Given the description of an element on the screen output the (x, y) to click on. 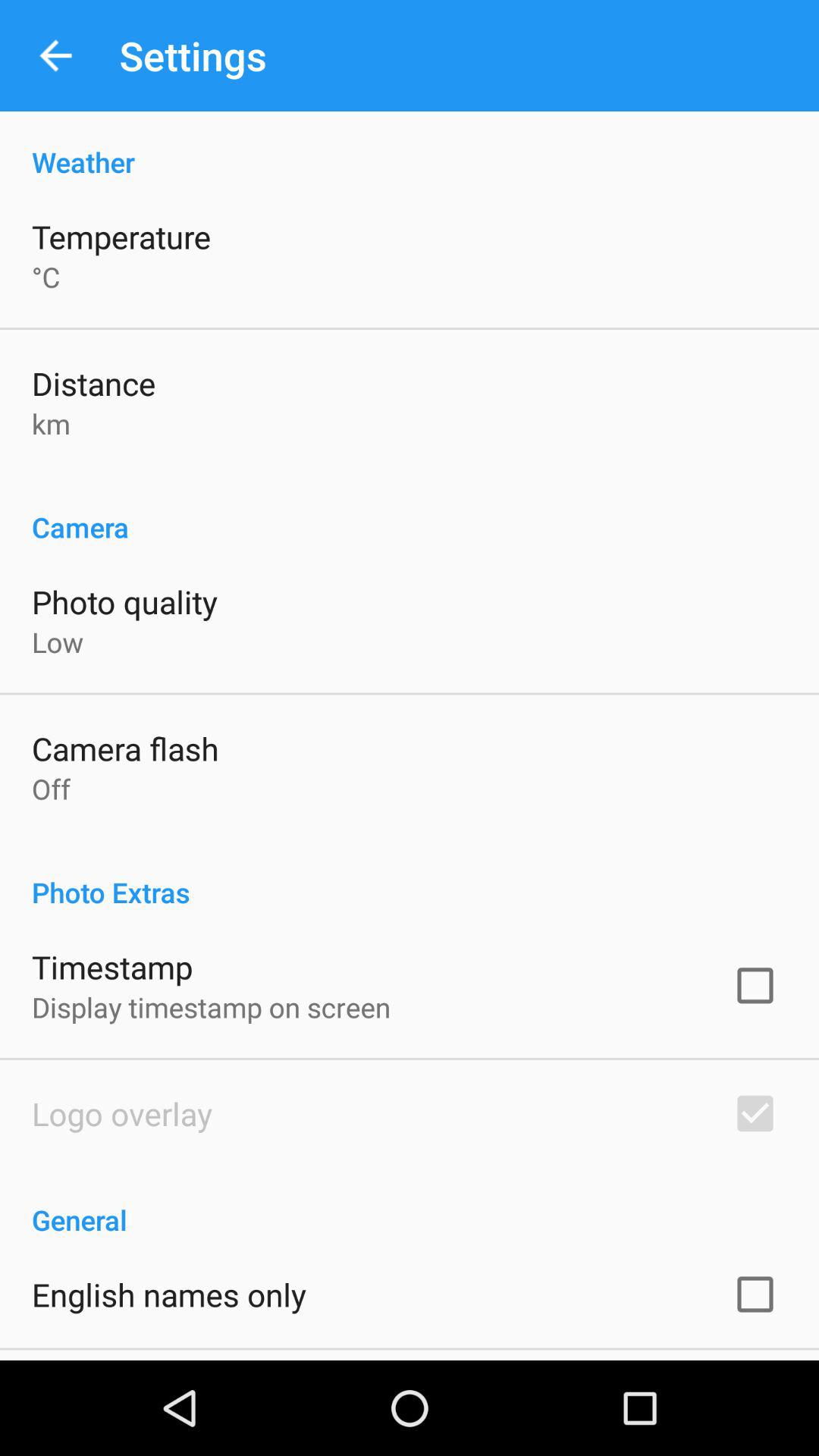
open the app above timestamp icon (409, 876)
